Given the description of an element on the screen output the (x, y) to click on. 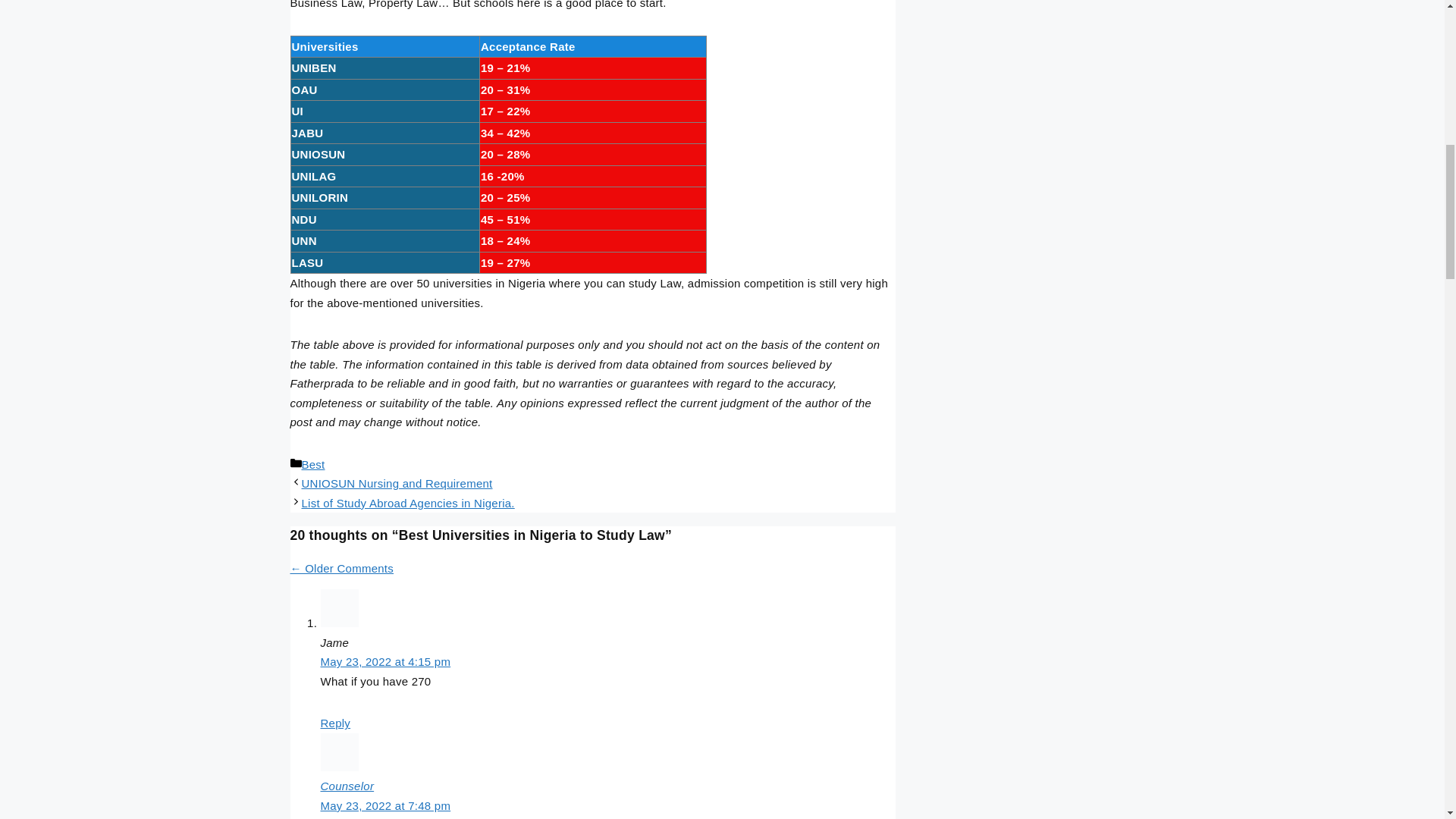
Counselor (347, 785)
Reply (335, 722)
Best (312, 463)
May 23, 2022 at 4:15 pm (384, 661)
UNIOSUN Nursing and Requirement (397, 482)
List of Study Abroad Agencies in Nigeria. (408, 502)
Scroll back to top (1406, 720)
May 23, 2022 at 7:48 pm (384, 805)
